Given the description of an element on the screen output the (x, y) to click on. 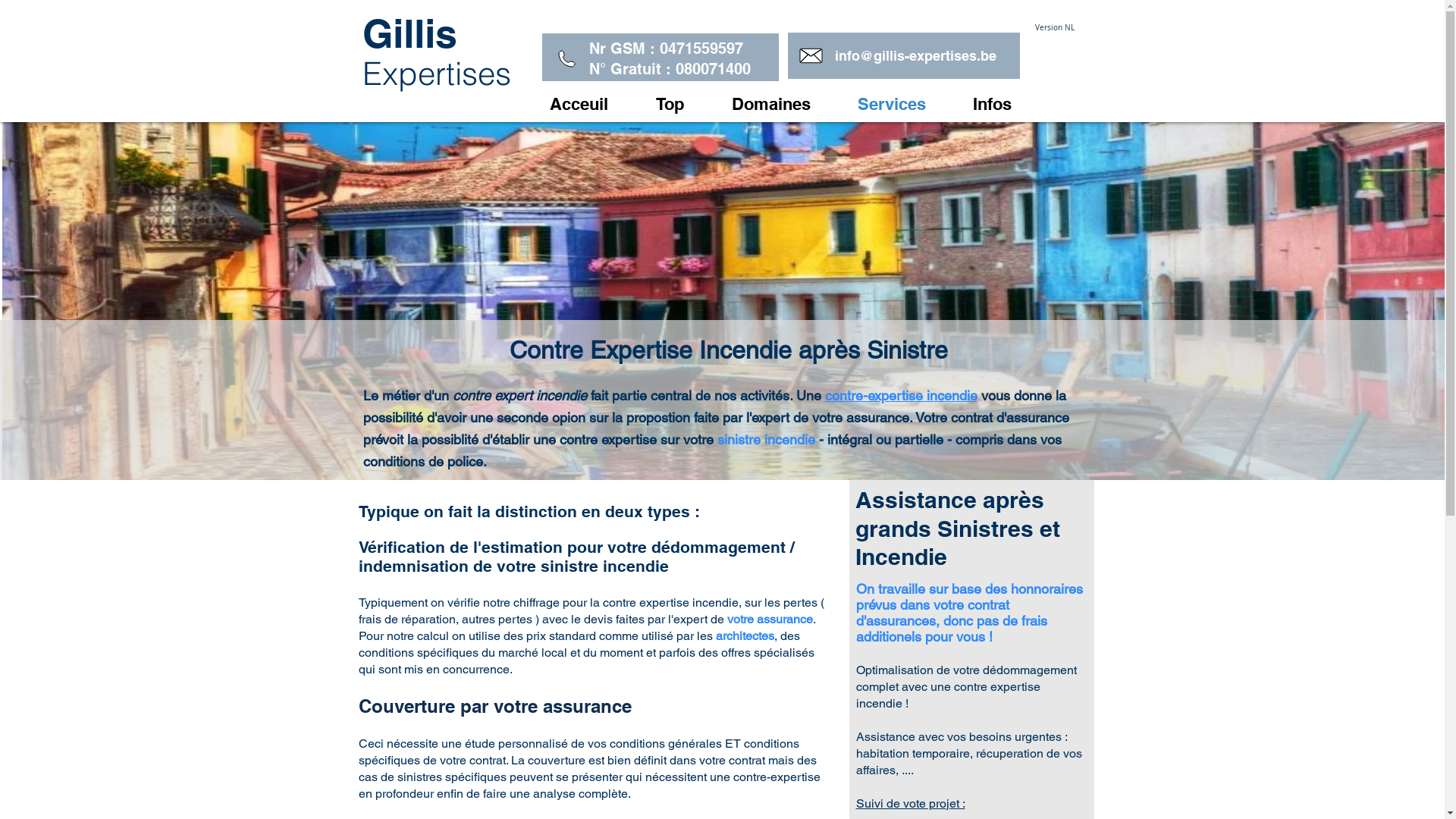
Tegenexpertise waterschade Element type: text (698, 785)
Acceuil Element type: text (594, 103)
Suivi de vote projet : Element type: text (909, 802)
Version NL Element type: text (1053, 27)
sinistre incendie Element type: text (766, 439)
Tegenexpert brand Element type: text (671, 713)
Tegenexpert waterschade Element type: text (691, 799)
Services Element type: text (906, 103)
Tegenexpert brandschade Element type: text (691, 756)
info@gillis-expertises.be Element type: text (914, 55)
votre assurance Element type: text (769, 618)
contre-expertise incendie Element type: text (901, 395)
Domaines Element type: text (786, 103)
architectes Element type: text (744, 635)
Tegenexpertise brandschade Element type: text (699, 741)
Top Element type: text (685, 103)
Infos Element type: text (1007, 103)
Tegenexpertise brand Element type: text (679, 727)
